Given the description of an element on the screen output the (x, y) to click on. 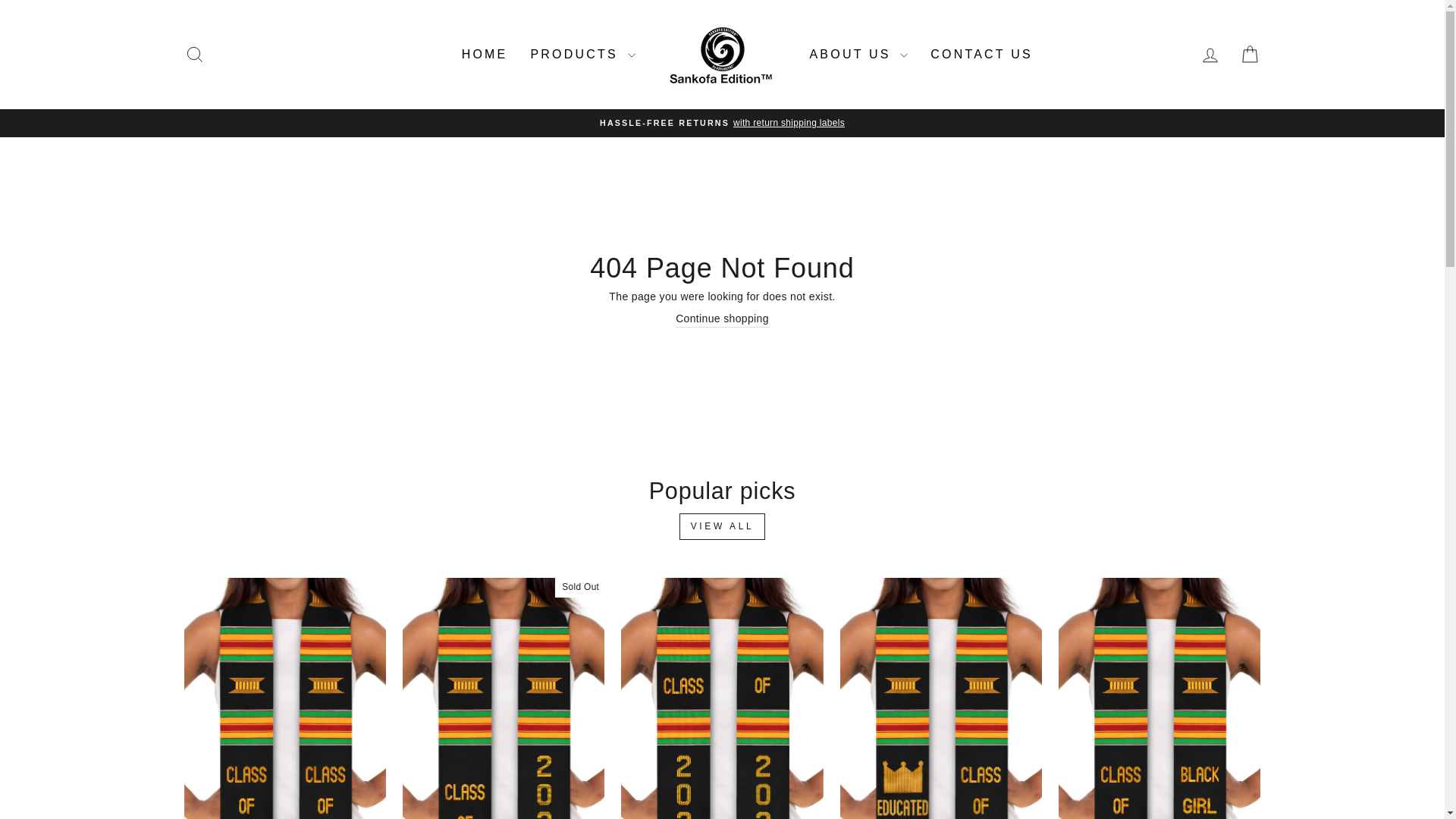
ACCOUNT (1210, 55)
ICON-SEARCH (194, 54)
